Given the description of an element on the screen output the (x, y) to click on. 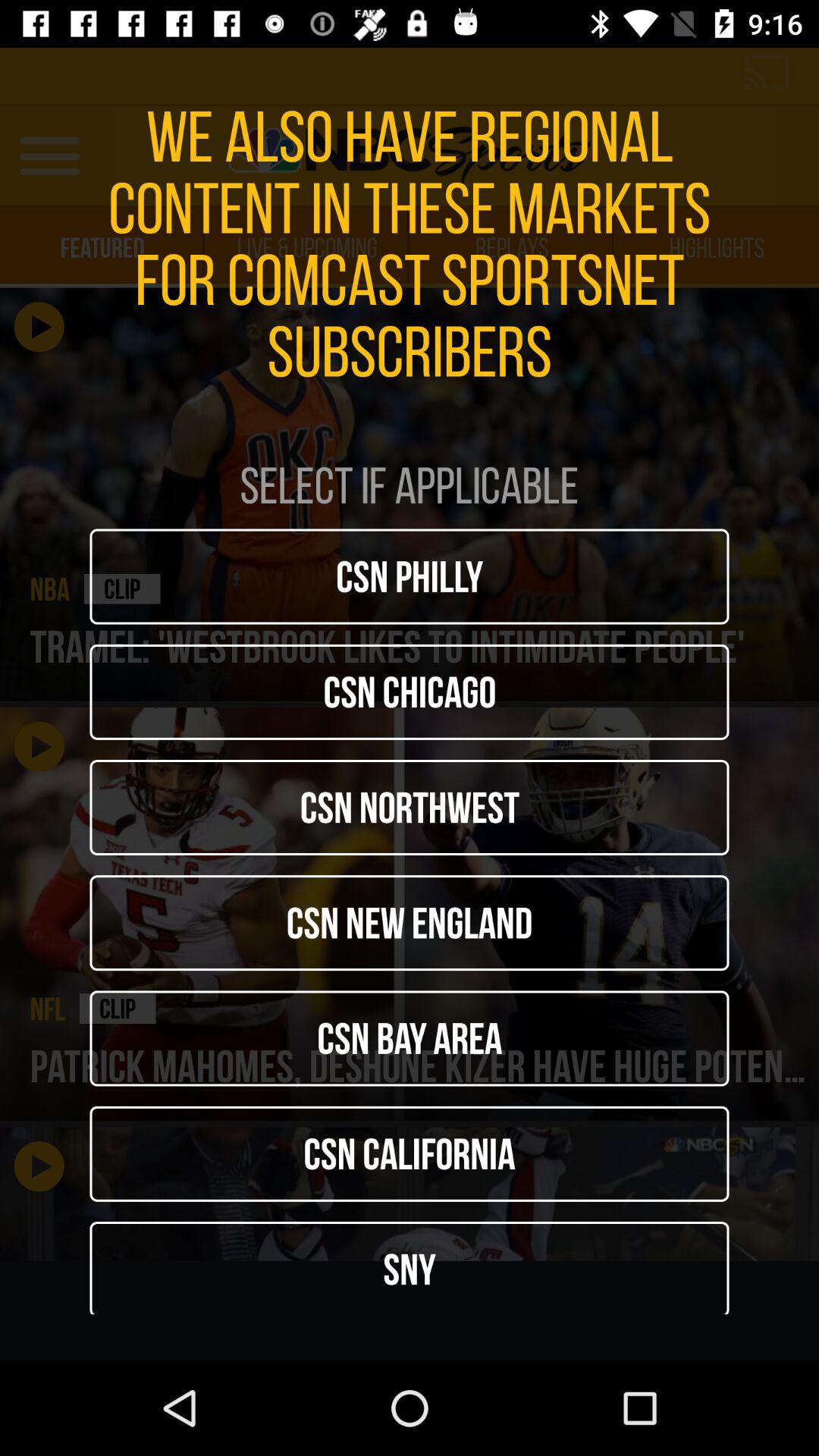
swipe until csn new england icon (409, 922)
